Given the description of an element on the screen output the (x, y) to click on. 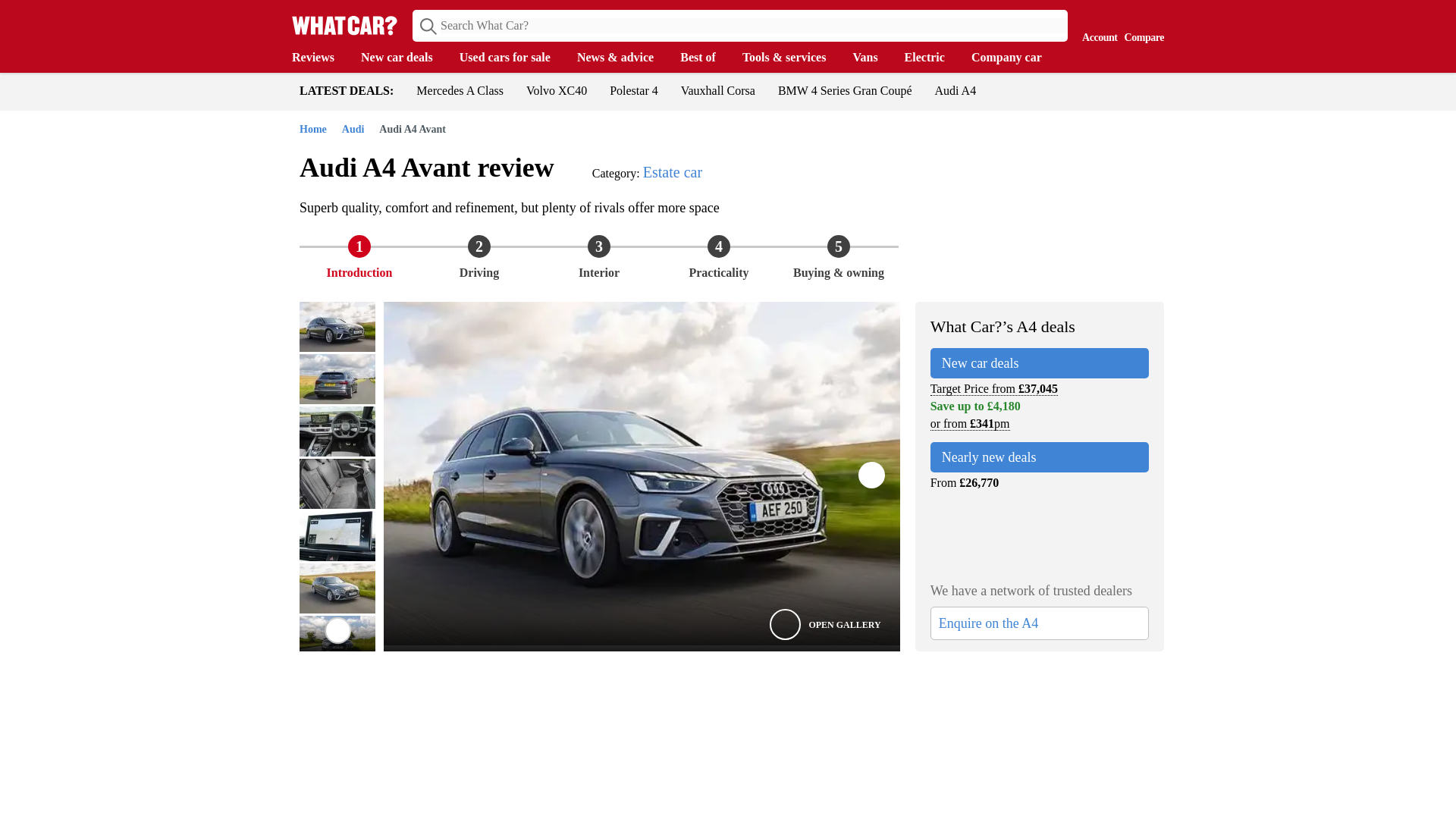
Account (1095, 24)
WhatCar? logo (344, 25)
New car deals (404, 57)
Best of (704, 57)
Electric (931, 57)
Compare (1140, 24)
Reviews (320, 57)
Company car (1014, 57)
Vans (871, 57)
Used cars for sale (513, 57)
